Given the description of an element on the screen output the (x, y) to click on. 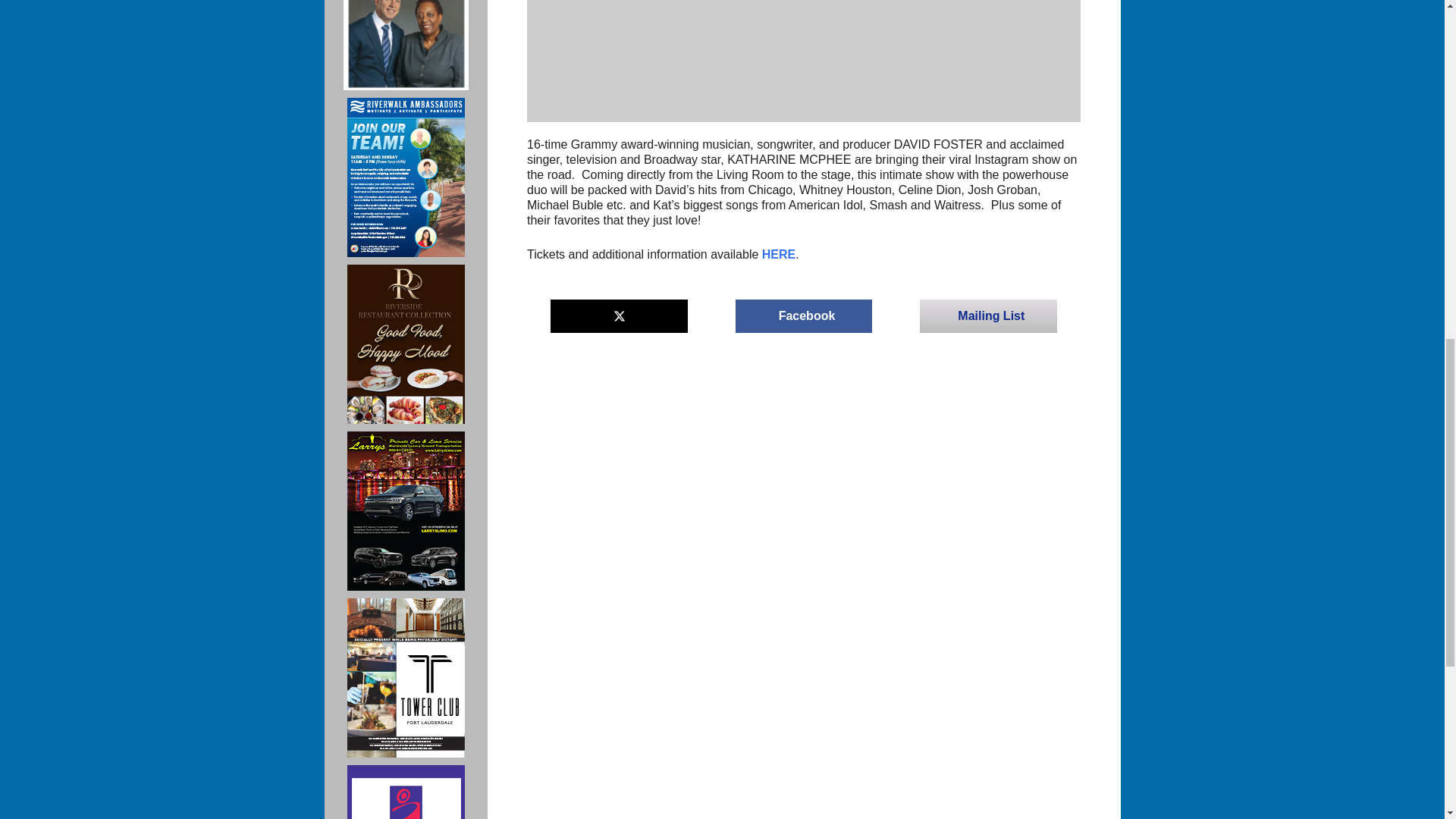
Facebook (803, 315)
Mailing List (988, 315)
HERE (777, 254)
